Given the description of an element on the screen output the (x, y) to click on. 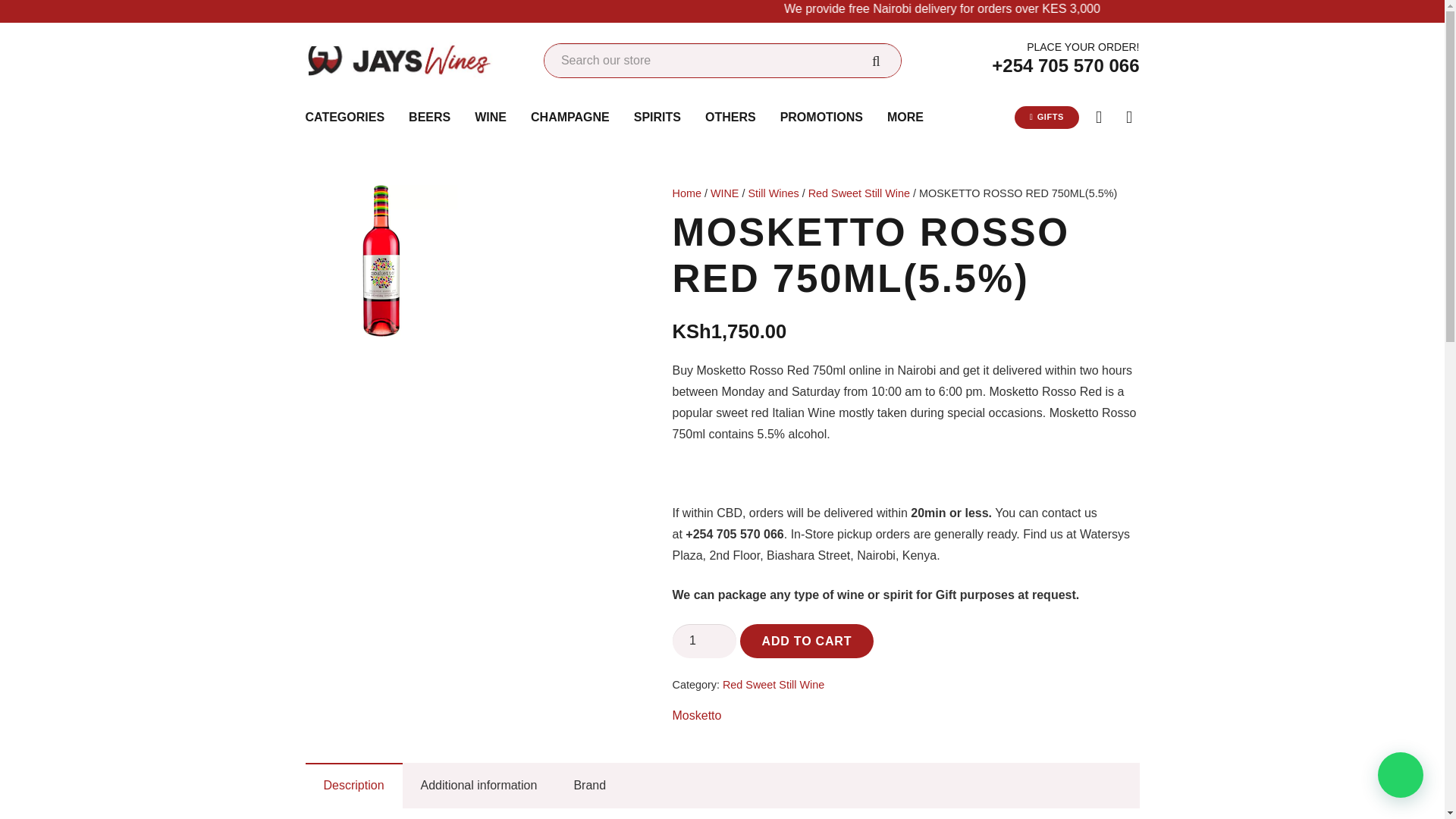
1 (703, 641)
WINE (490, 117)
Buy Mosketto Rosso Red 750ml online in Nairobi (380, 260)
View brand (695, 715)
CATEGORIES (344, 117)
BEERS (429, 117)
